Given the description of an element on the screen output the (x, y) to click on. 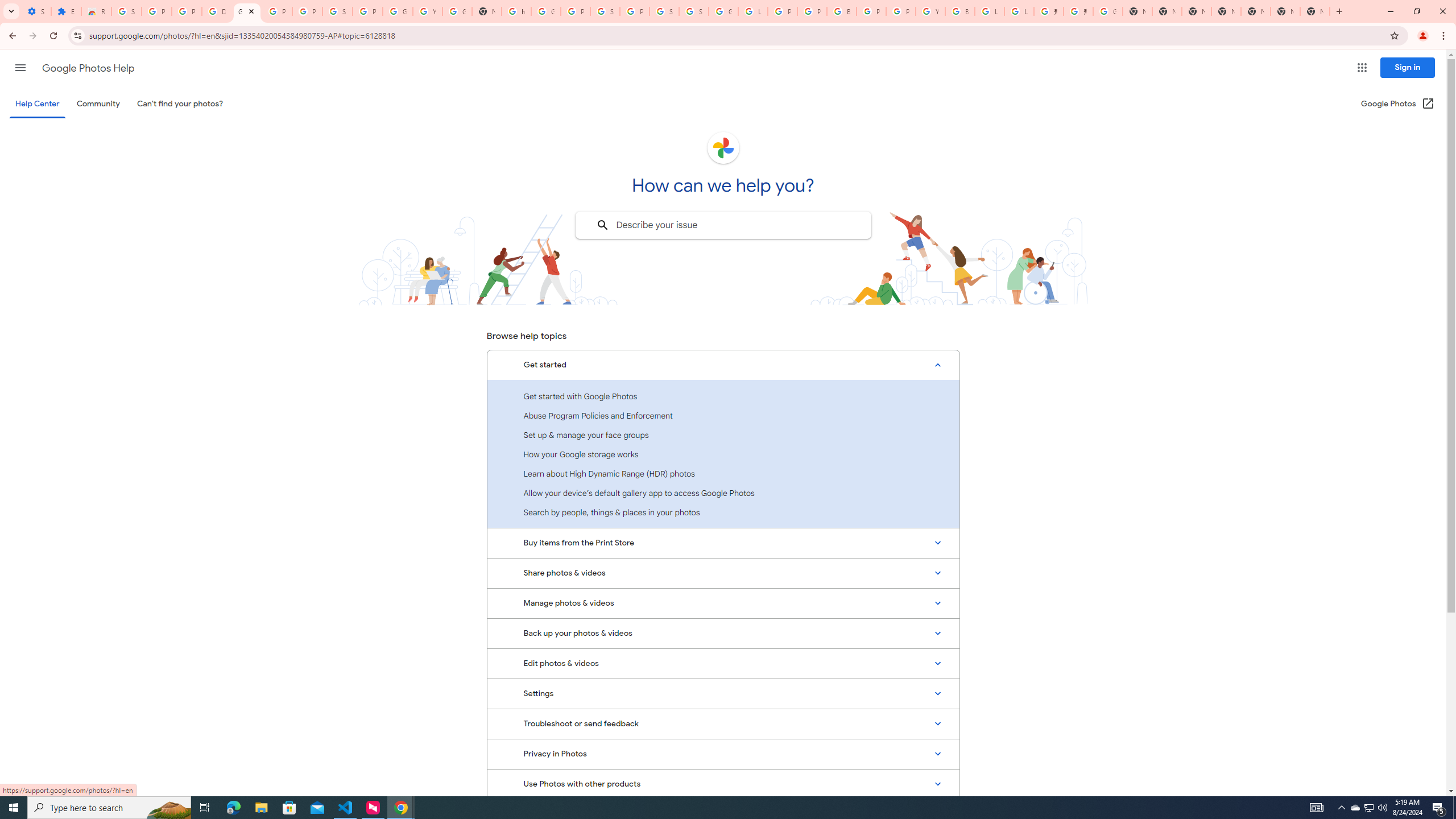
Privacy Help Center - Policies Help (811, 11)
Privacy Help Center - Policies Help (782, 11)
https://scholar.google.com/ (515, 11)
Sign in - Google Accounts (126, 11)
Get started with Google Photos (722, 396)
Settings - On startup (36, 11)
Google Photos (Open in a new window) (1397, 103)
Get started, Expanded list with 7 items (722, 365)
Delete photos & videos - Computer - Google Photos Help (216, 11)
Sign in - Google Accounts (693, 11)
